Given the description of an element on the screen output the (x, y) to click on. 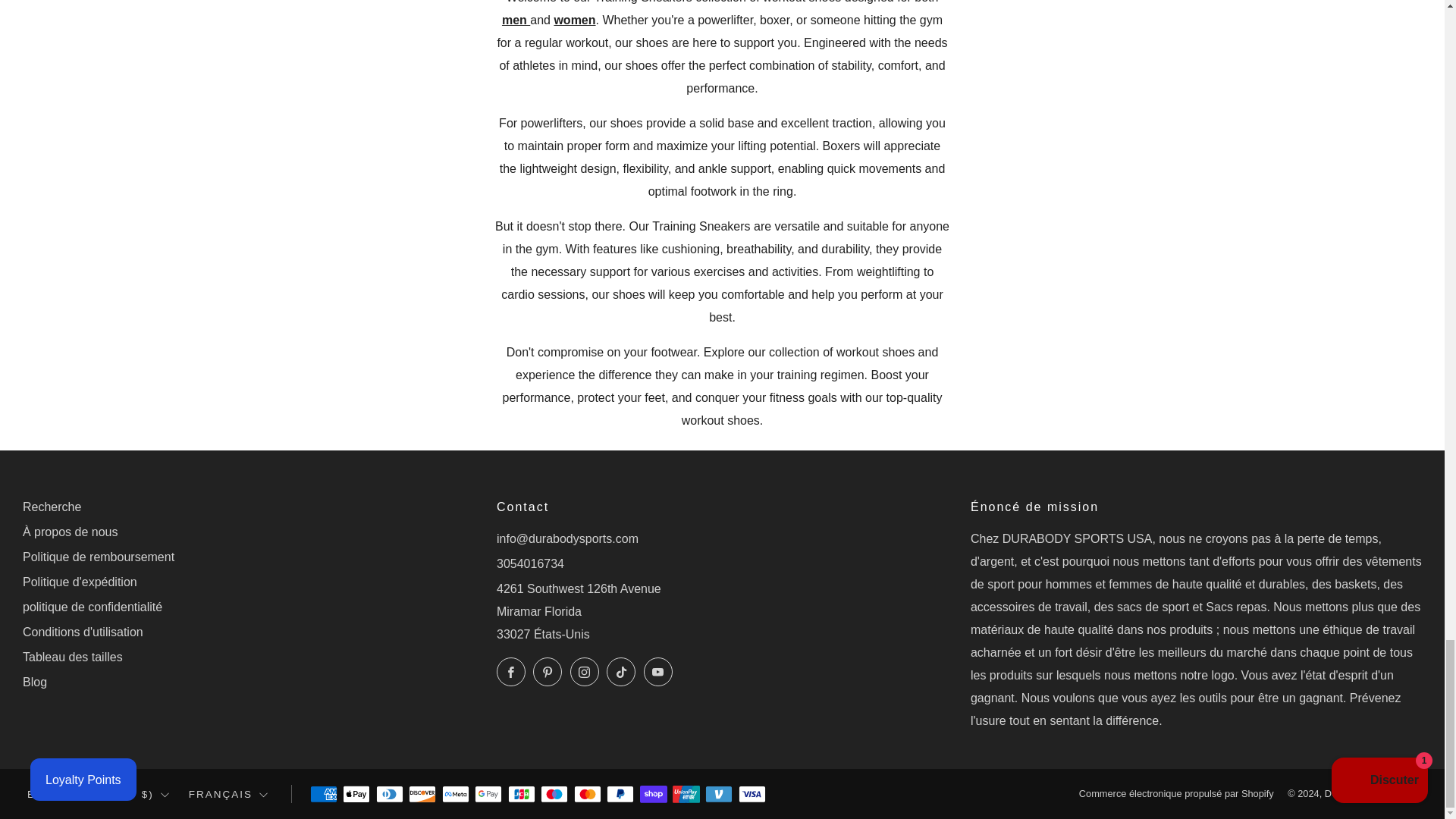
American Express (323, 794)
Maestro (553, 794)
Apple Pay (355, 794)
Meta Pay (455, 794)
Google Pay (488, 794)
Discover (422, 794)
Union Pay (686, 794)
JCB (521, 794)
PayPal (620, 794)
Visa (751, 794)
Shop Pay (653, 794)
Venmo (718, 794)
Diners Club (389, 794)
Mastercard (587, 794)
